Given the description of an element on the screen output the (x, y) to click on. 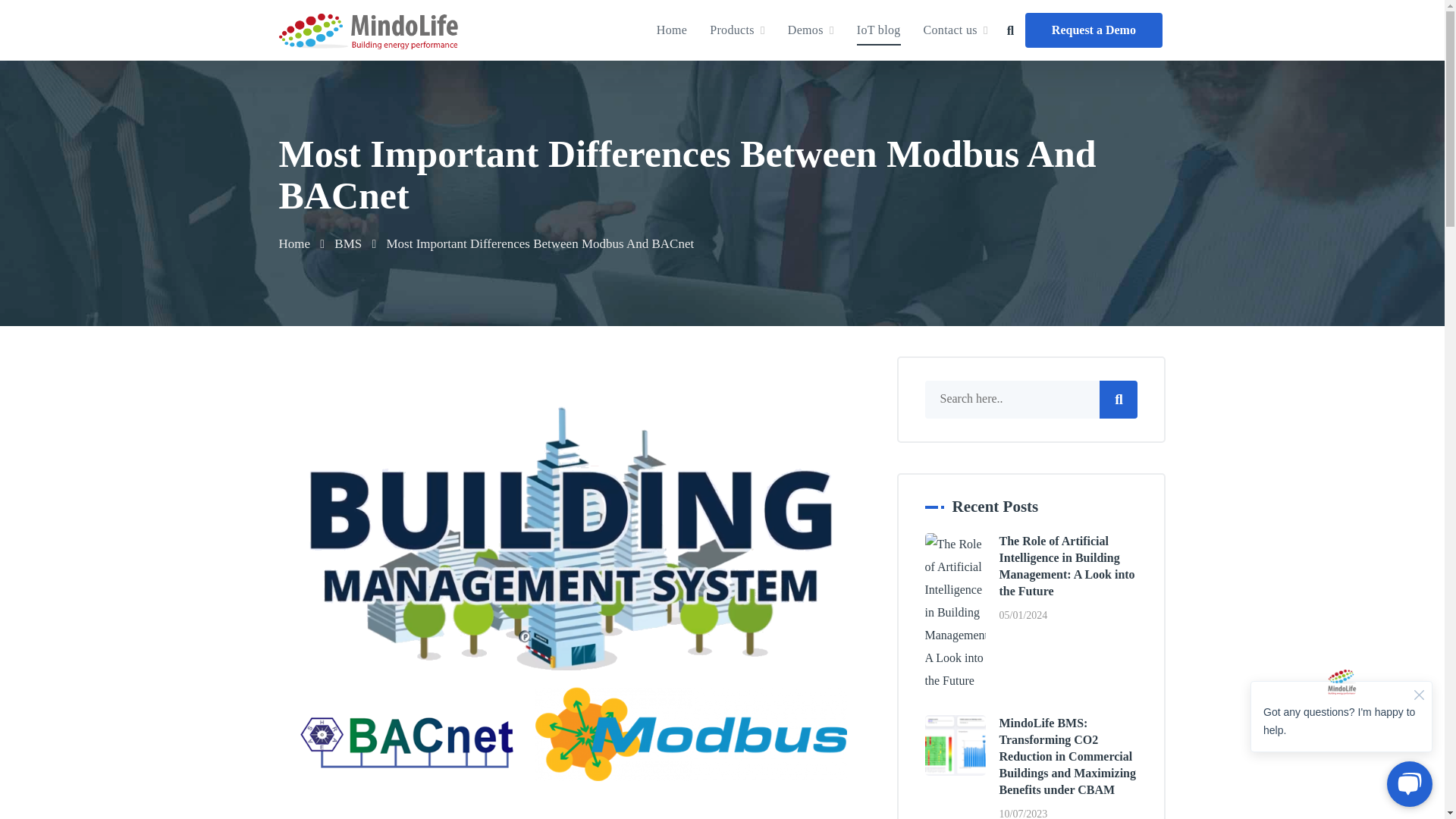
Search (387, 10)
Products (737, 30)
Contact us (955, 30)
Demos (810, 30)
Request a Demo (1093, 30)
IoT blog (878, 30)
